Given the description of an element on the screen output the (x, y) to click on. 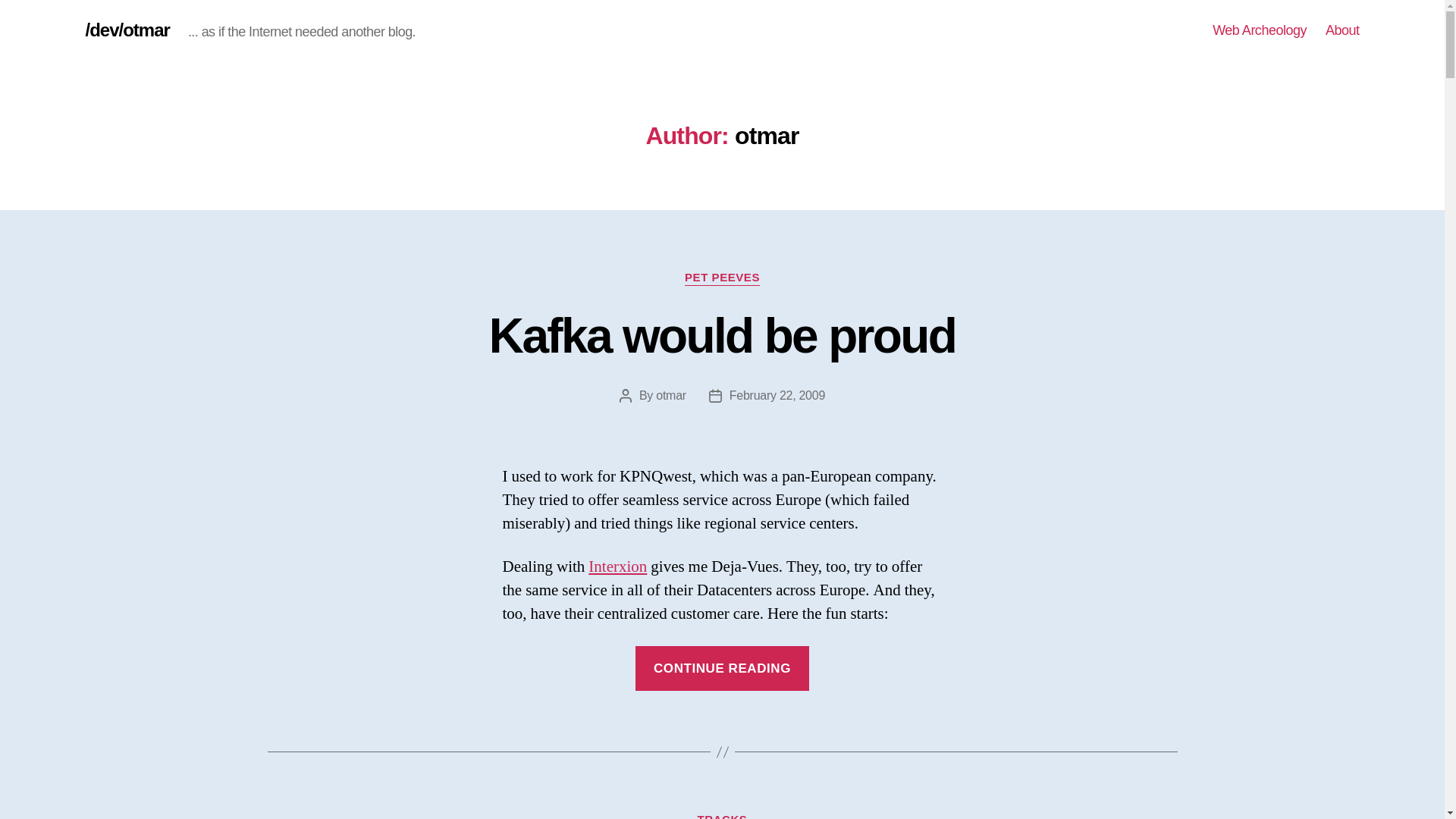
otmar (670, 395)
Web Archeology (1259, 30)
February 22, 2009 (777, 395)
Kafka would be proud (722, 335)
About (1341, 30)
PET PEEVES (722, 278)
TRACKS (722, 816)
Interxion (617, 566)
